Given the description of an element on the screen output the (x, y) to click on. 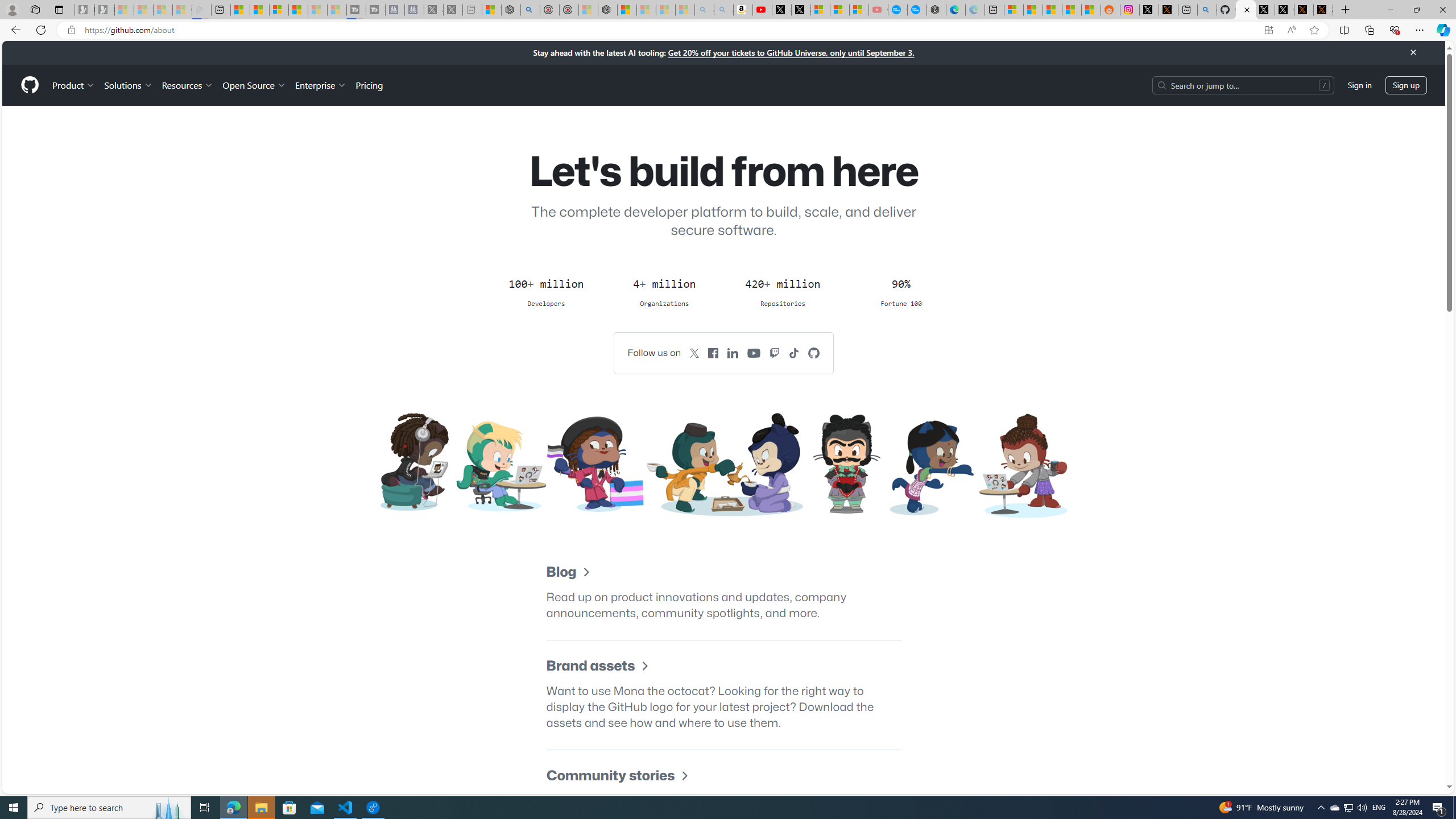
GitHub on Twitch (775, 352)
Opinion: Op-Ed and Commentary - USA TODAY (897, 9)
App available. Install GitHub (1268, 29)
Newsletter Sign Up - Sleeping (104, 9)
GitHub on LinkedIn (733, 352)
Overview (279, 9)
